Given the description of an element on the screen output the (x, y) to click on. 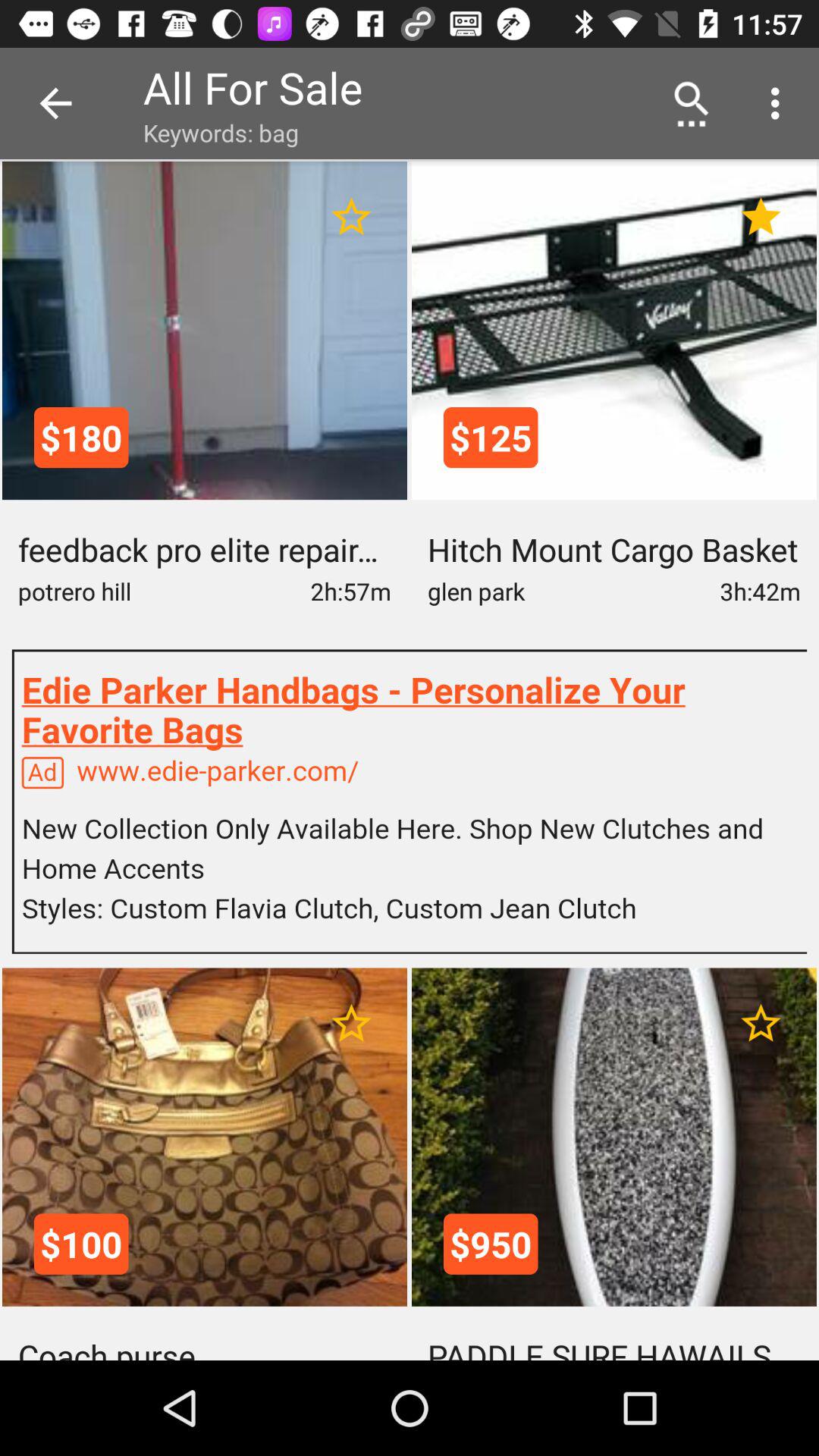
to provide rating (351, 217)
